Given the description of an element on the screen output the (x, y) to click on. 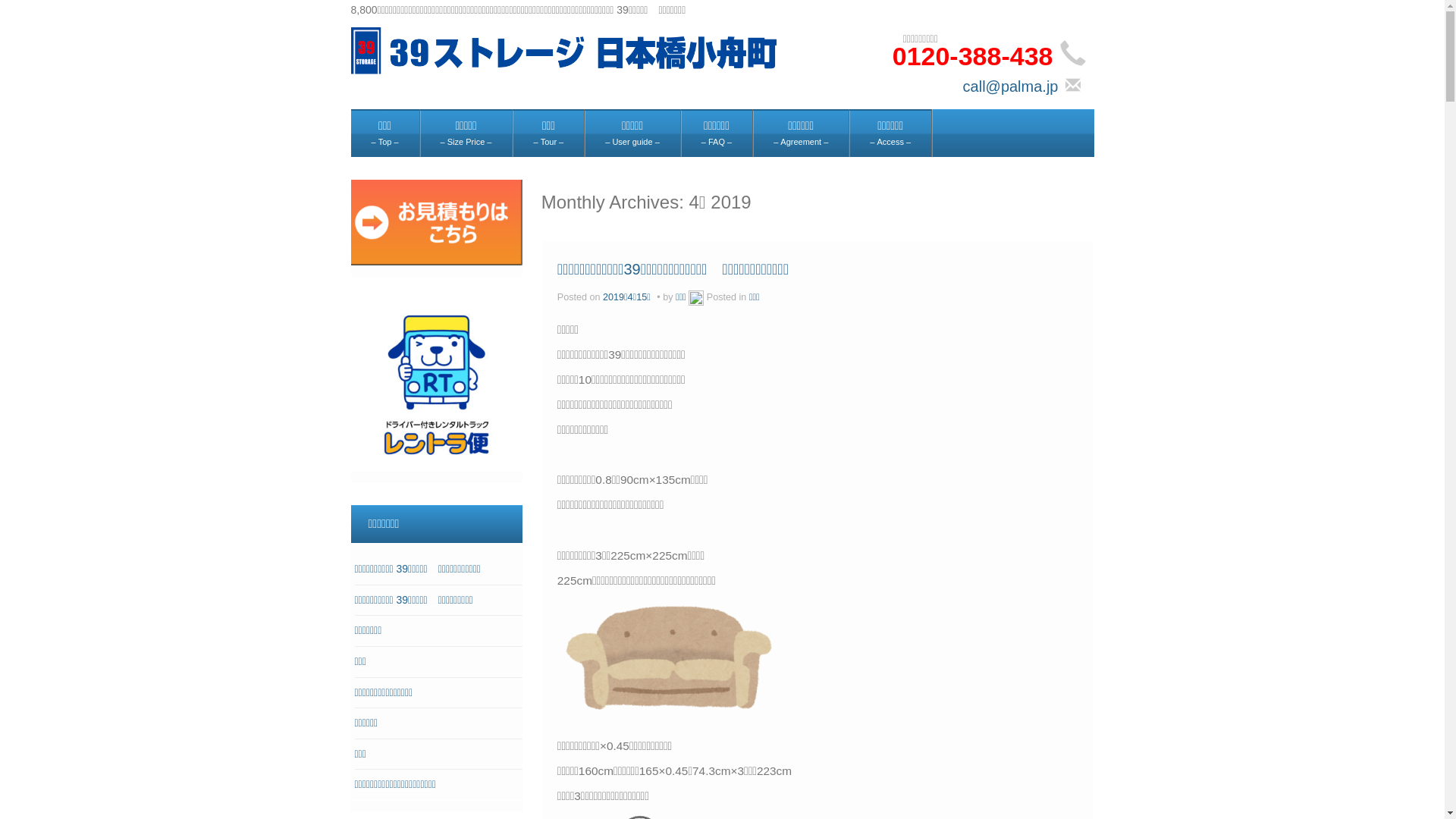
call@palma.jp Element type: text (1010, 86)
